Given the description of an element on the screen output the (x, y) to click on. 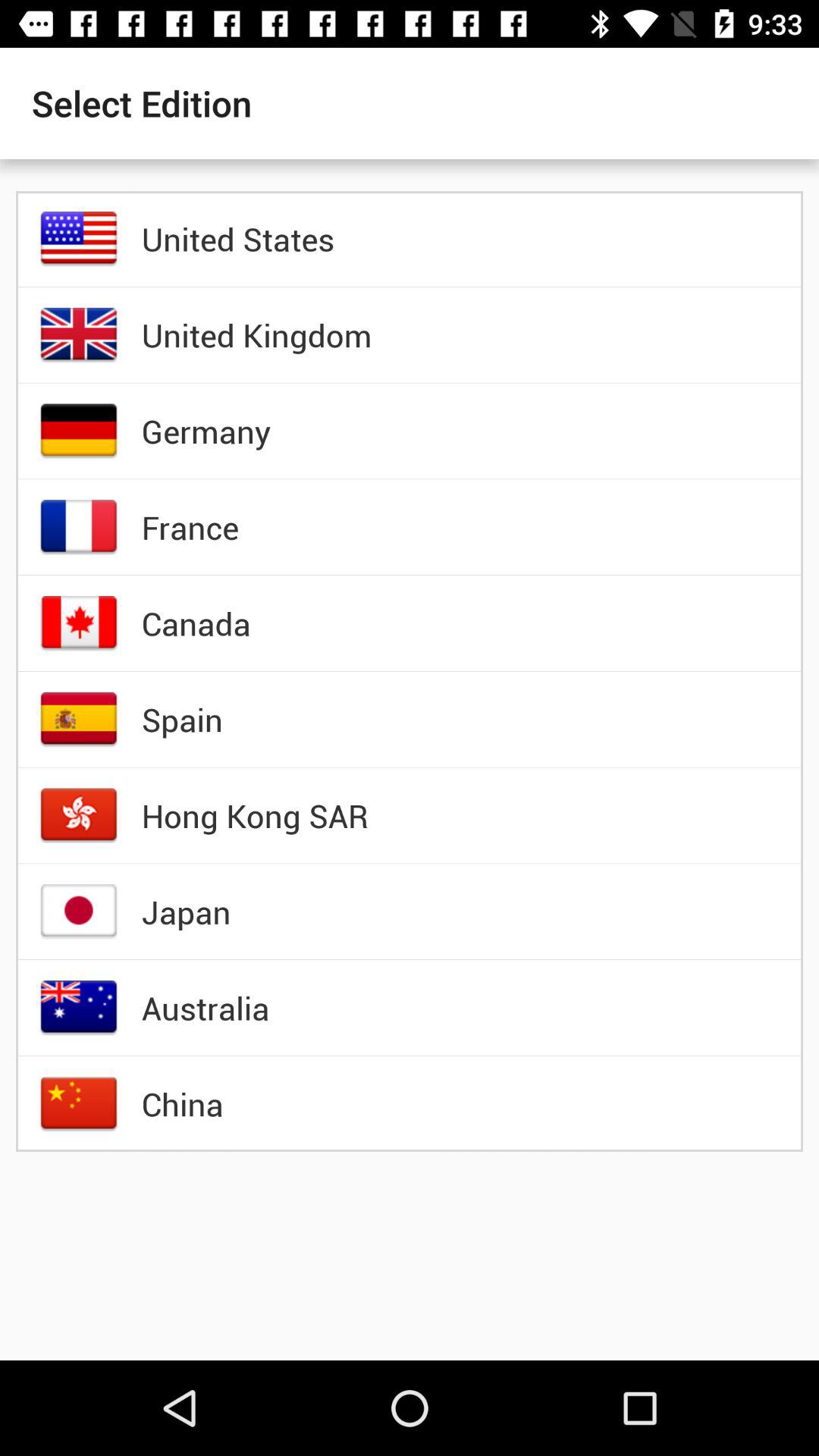
launch the item above japan icon (254, 815)
